Given the description of an element on the screen output the (x, y) to click on. 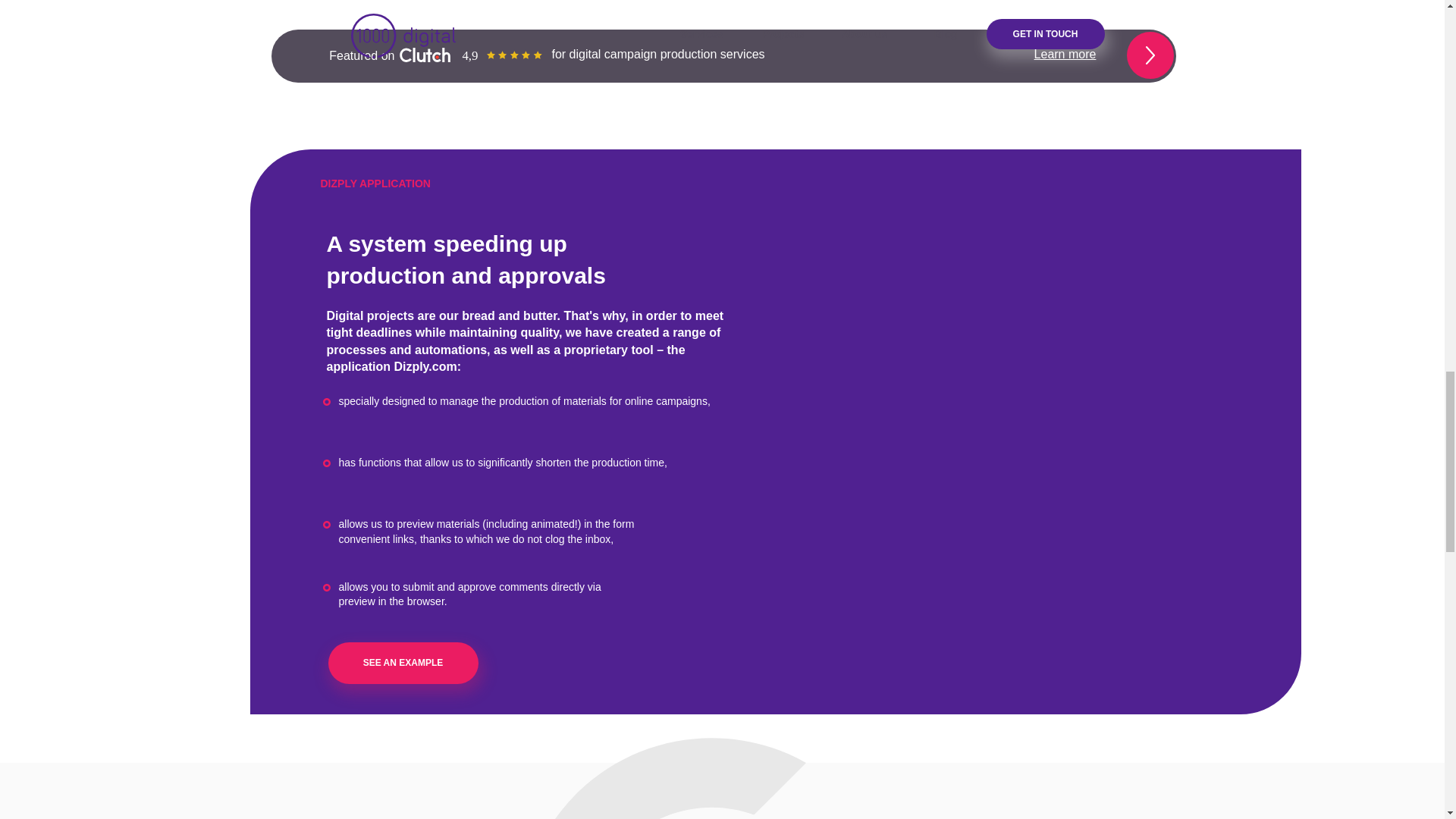
4,9 (470, 55)
SEE AN EXAMPLE (402, 662)
Learn more (1064, 53)
